Given the description of an element on the screen output the (x, y) to click on. 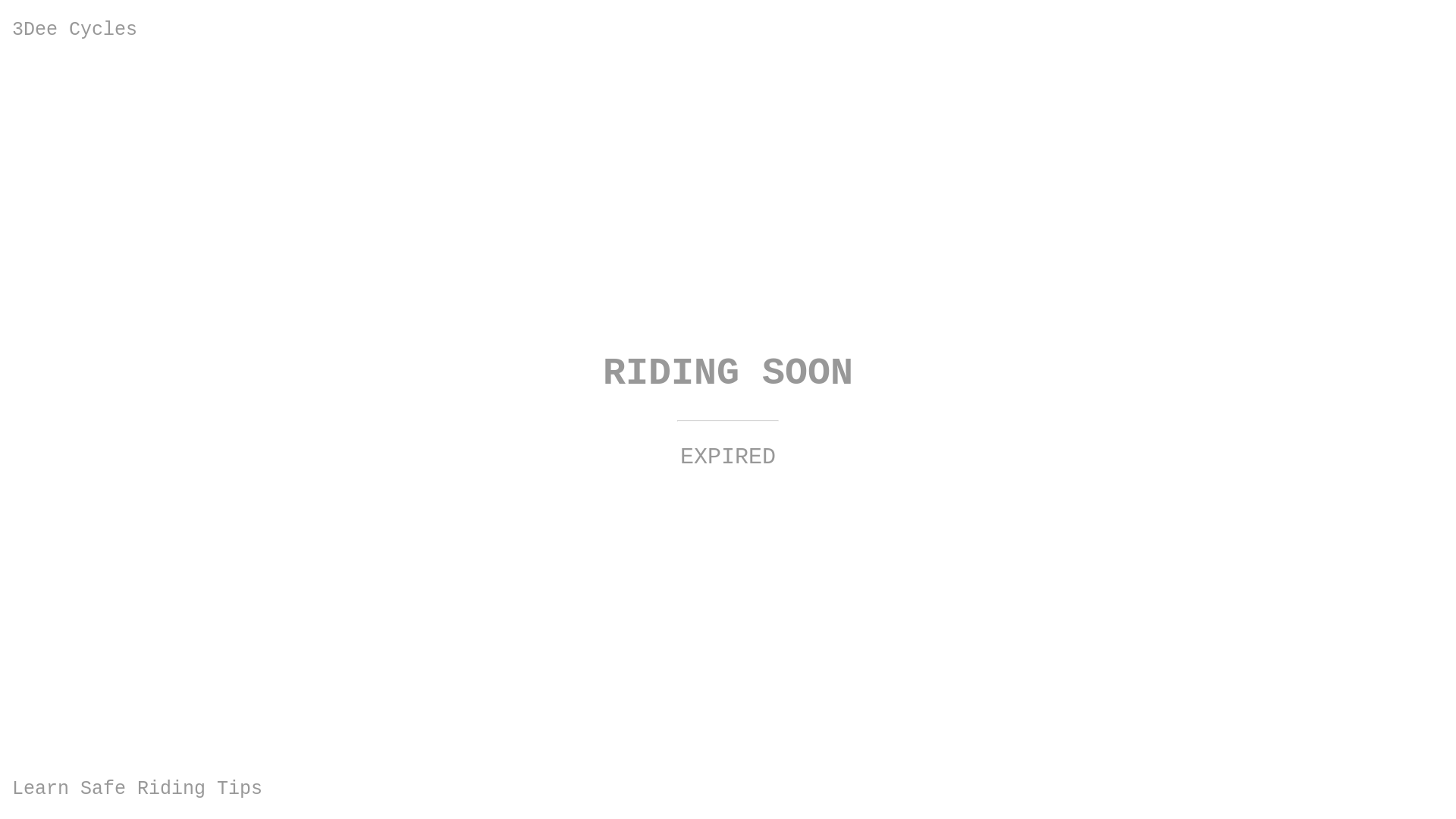
Learn Safe Riding Tips Element type: text (137, 789)
